Given the description of an element on the screen output the (x, y) to click on. 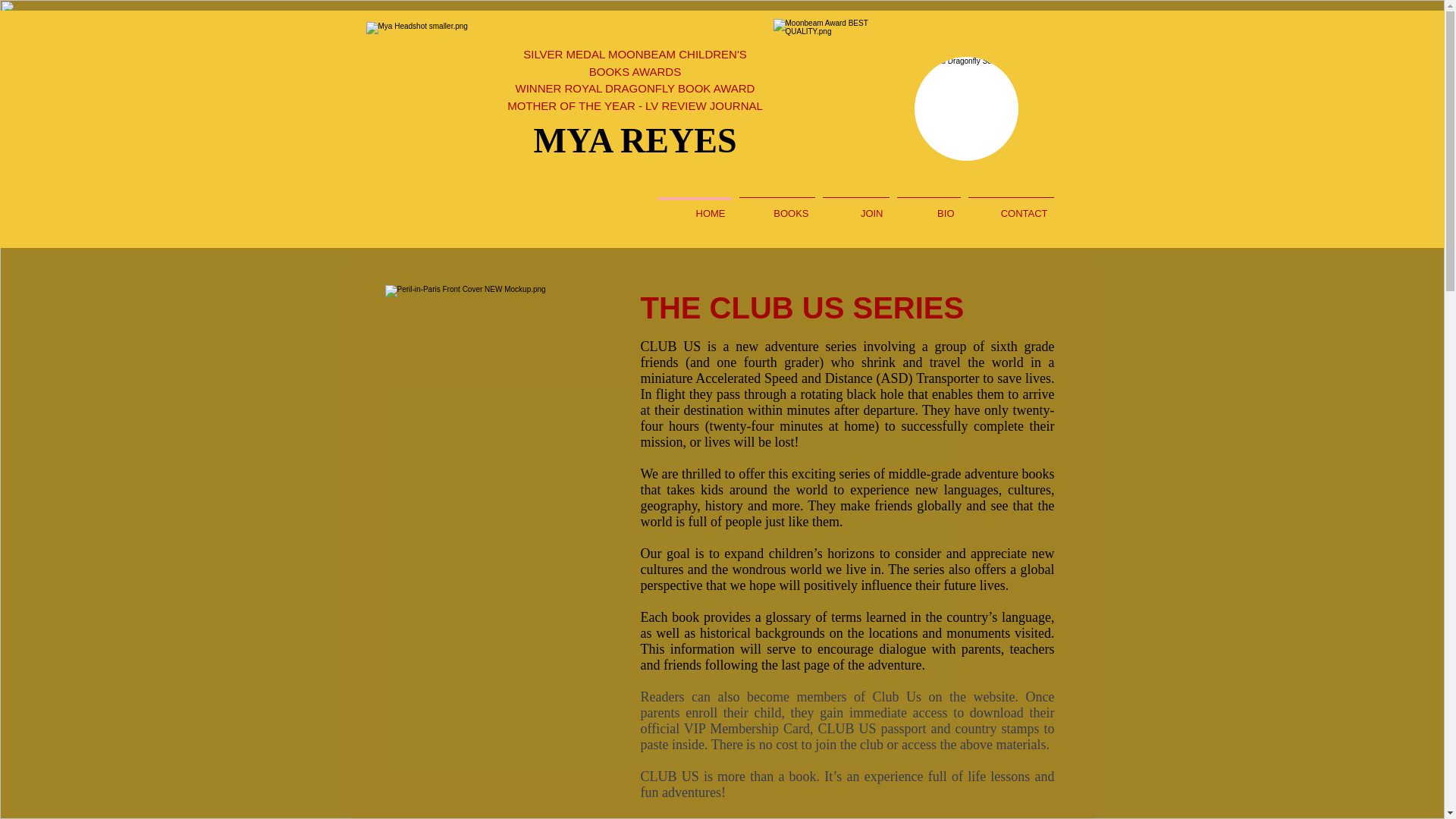
CONTACT (1010, 206)
BIO (928, 206)
HOME (694, 206)
BOOKS (776, 206)
JOIN (855, 206)
